Given the description of an element on the screen output the (x, y) to click on. 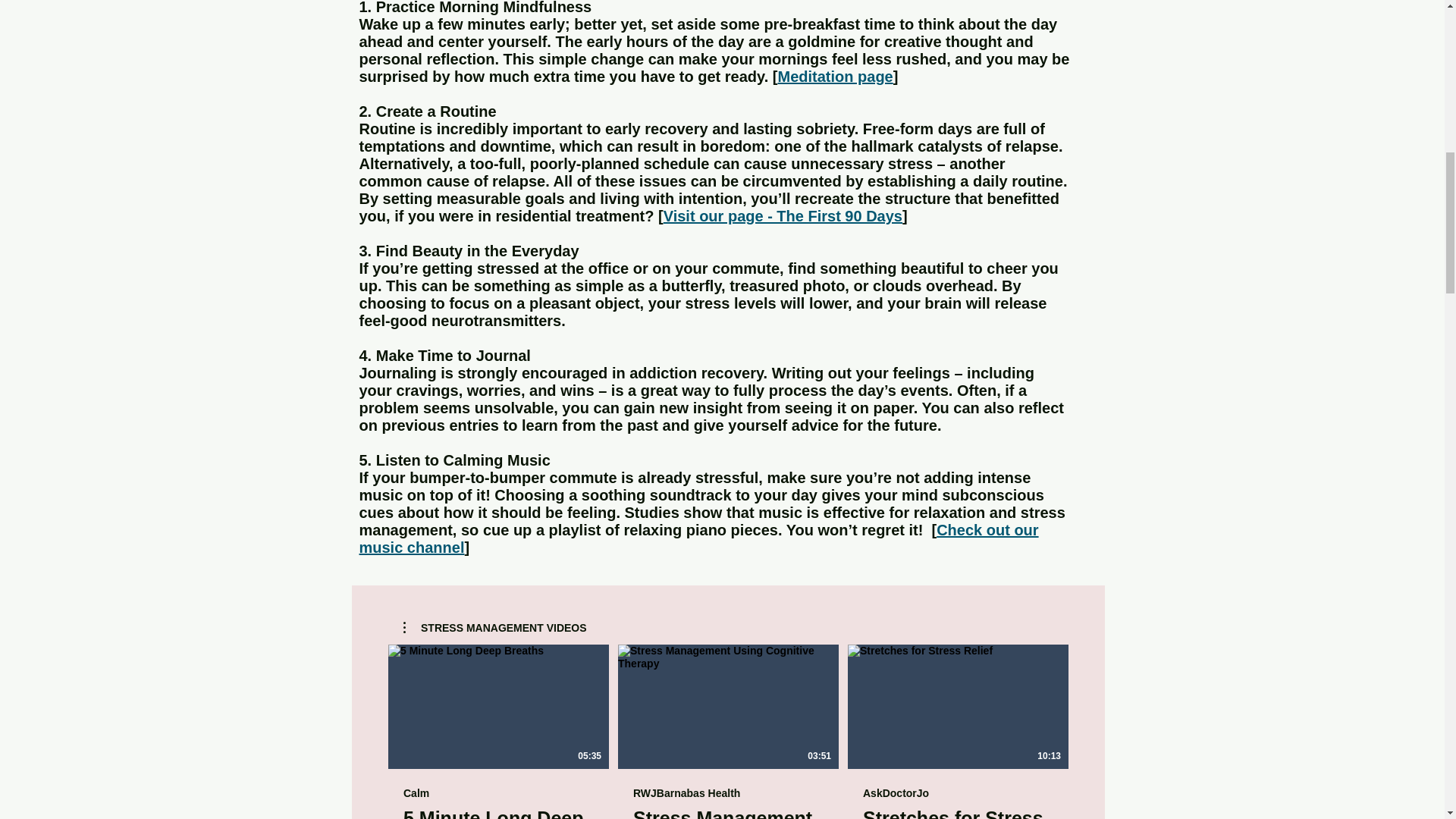
5 Minute Long Deep Breaths (498, 813)
Stretches for Stress Relief (957, 813)
Stress Management Using Cognitive Therapy (726, 813)
